Given the description of an element on the screen output the (x, y) to click on. 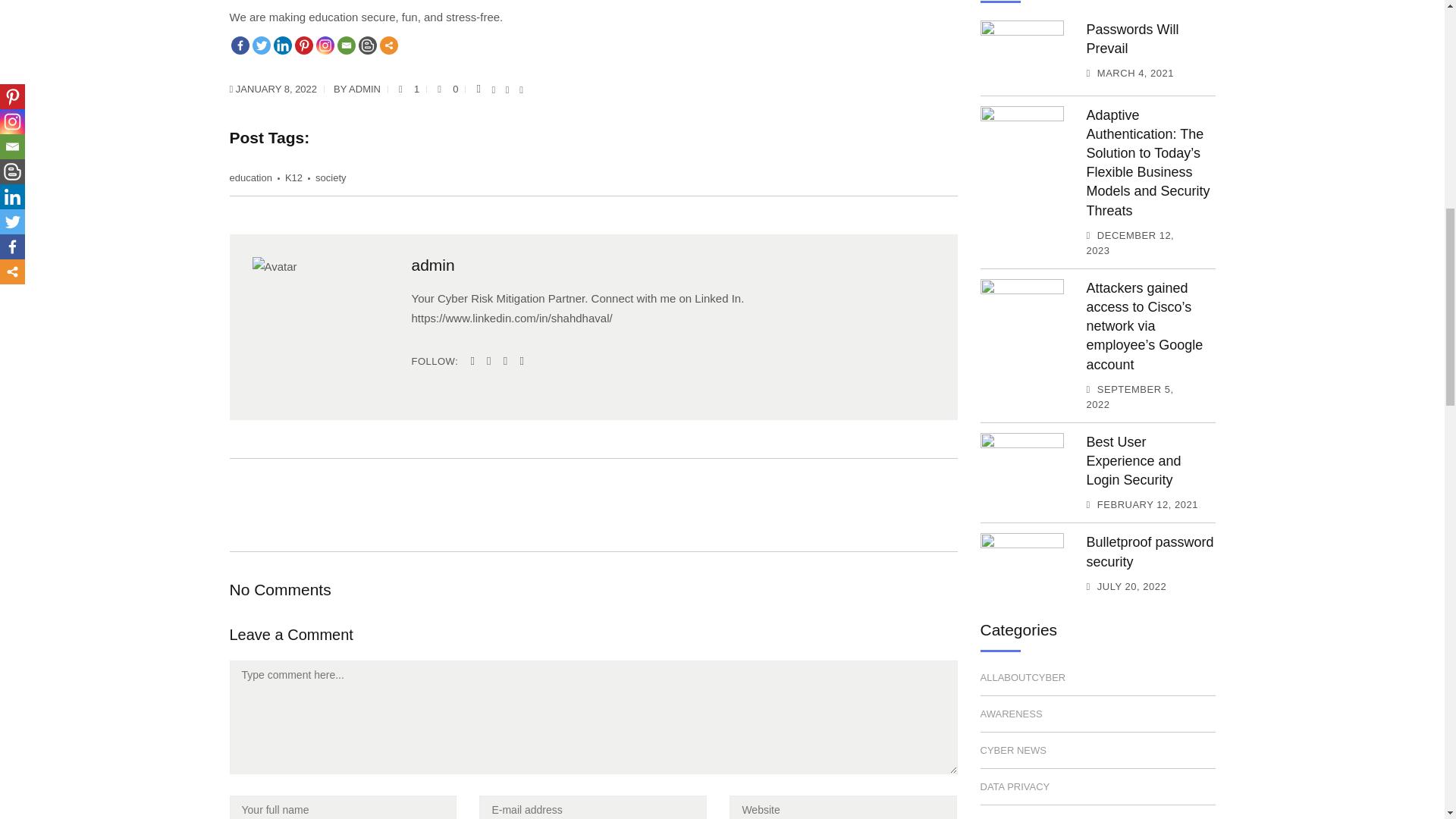
Linkedin (282, 45)
Email (345, 45)
Instagram (324, 45)
Blogger Post (366, 45)
More (387, 45)
Facebook (239, 45)
Pinterest (303, 45)
Twitter (260, 45)
